Given the description of an element on the screen output the (x, y) to click on. 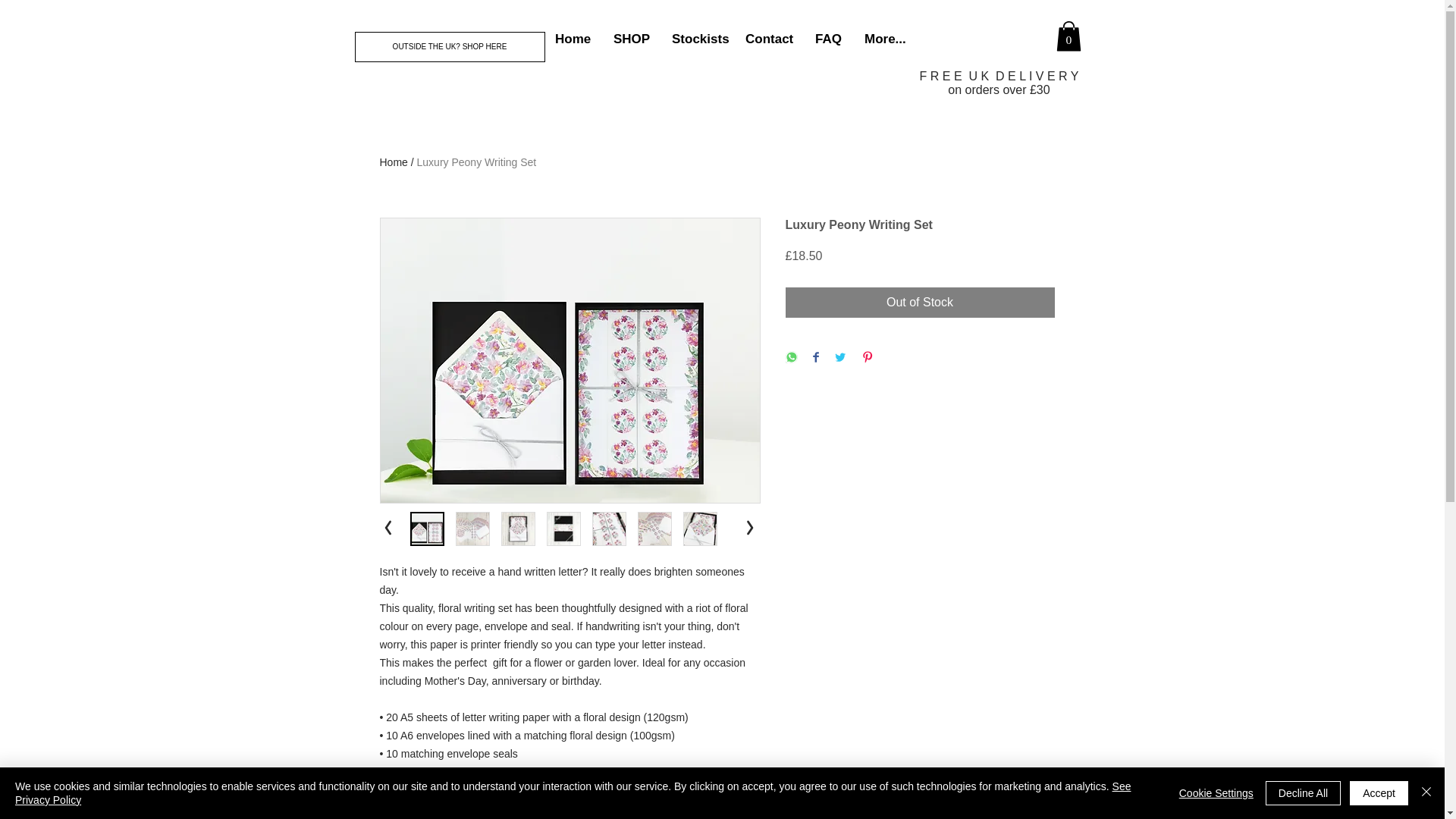
SHOP (631, 38)
Luxury Peony Writing Set (476, 162)
Stockists (697, 38)
FAQ (828, 38)
Home (572, 38)
Home (392, 162)
Contact (768, 38)
OUTSIDE THE UK? SHOP HERE (449, 46)
Out of Stock (920, 302)
Site Search (1001, 47)
